Given the description of an element on the screen output the (x, y) to click on. 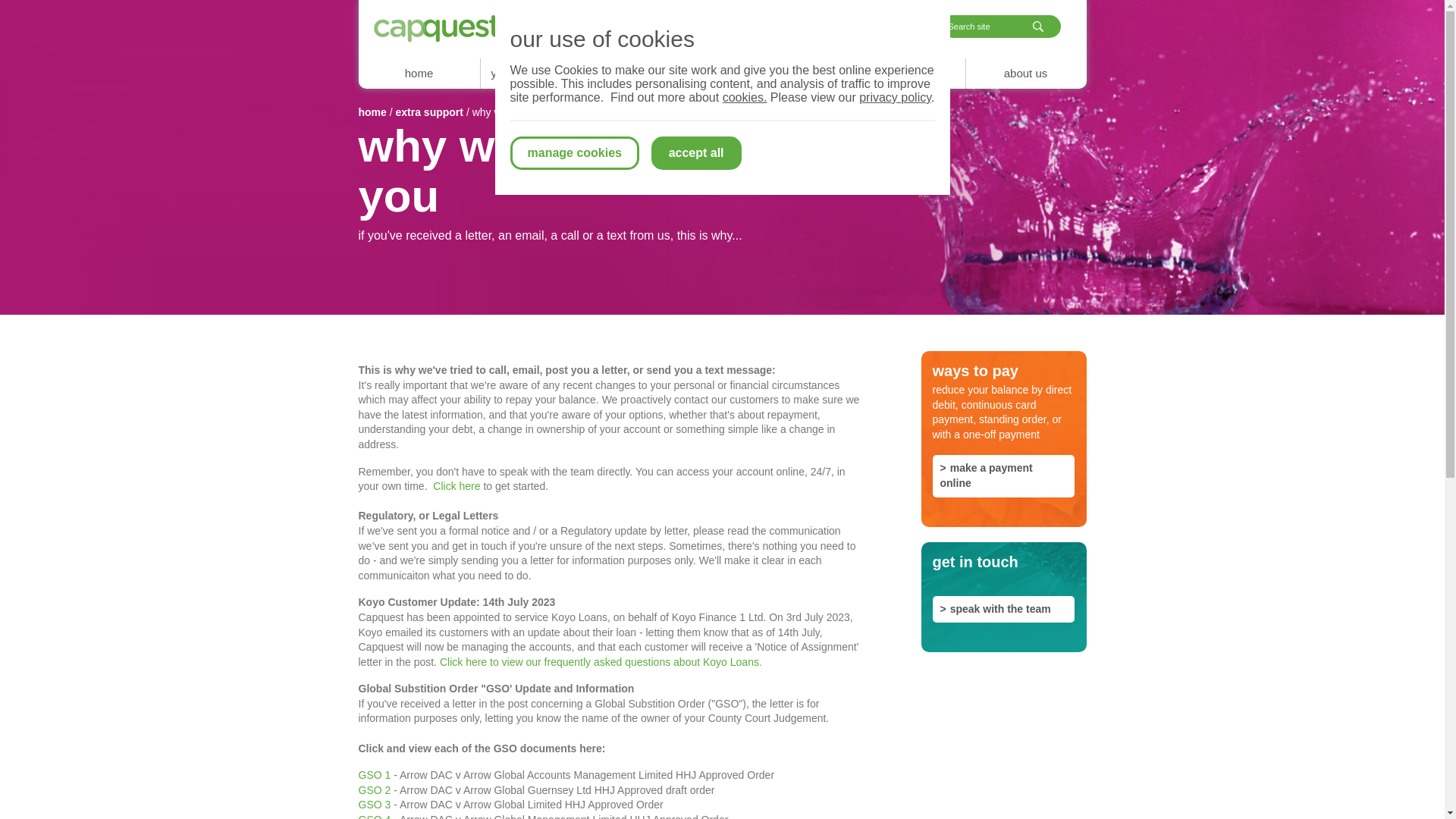
0333 999 7200 (606, 26)
ways to pay (660, 73)
privacy policy (895, 97)
cookies. (744, 97)
Privacy Policy (895, 97)
Cookie Policy (744, 97)
get in touch (904, 73)
home (419, 73)
your online account (540, 73)
make a payment (743, 26)
got a question? (884, 26)
manage cookies (574, 152)
about us (1024, 73)
accept all (695, 152)
extra support (783, 73)
